Given the description of an element on the screen output the (x, y) to click on. 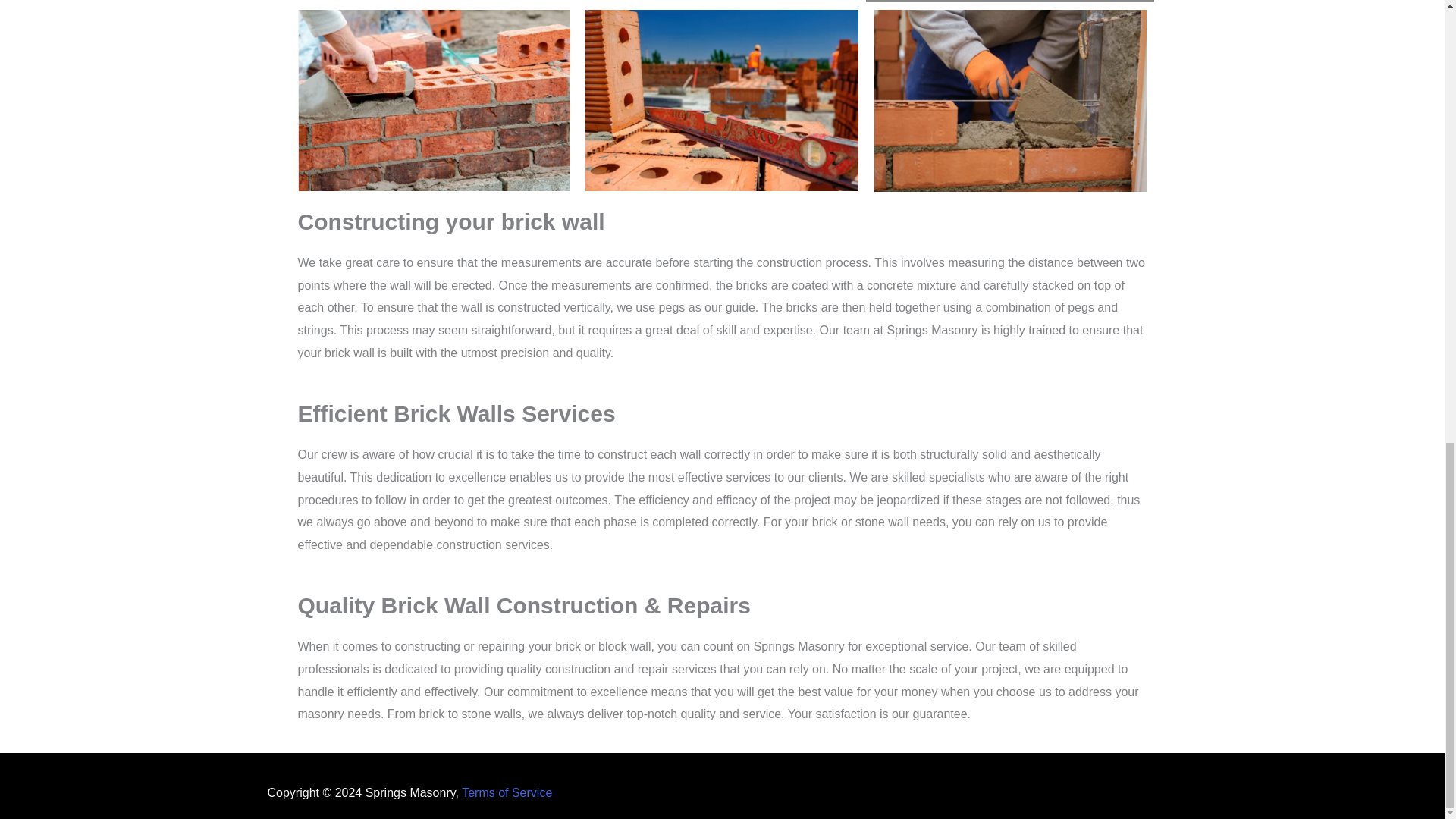
Terms of Service (506, 792)
